Given the description of an element on the screen output the (x, y) to click on. 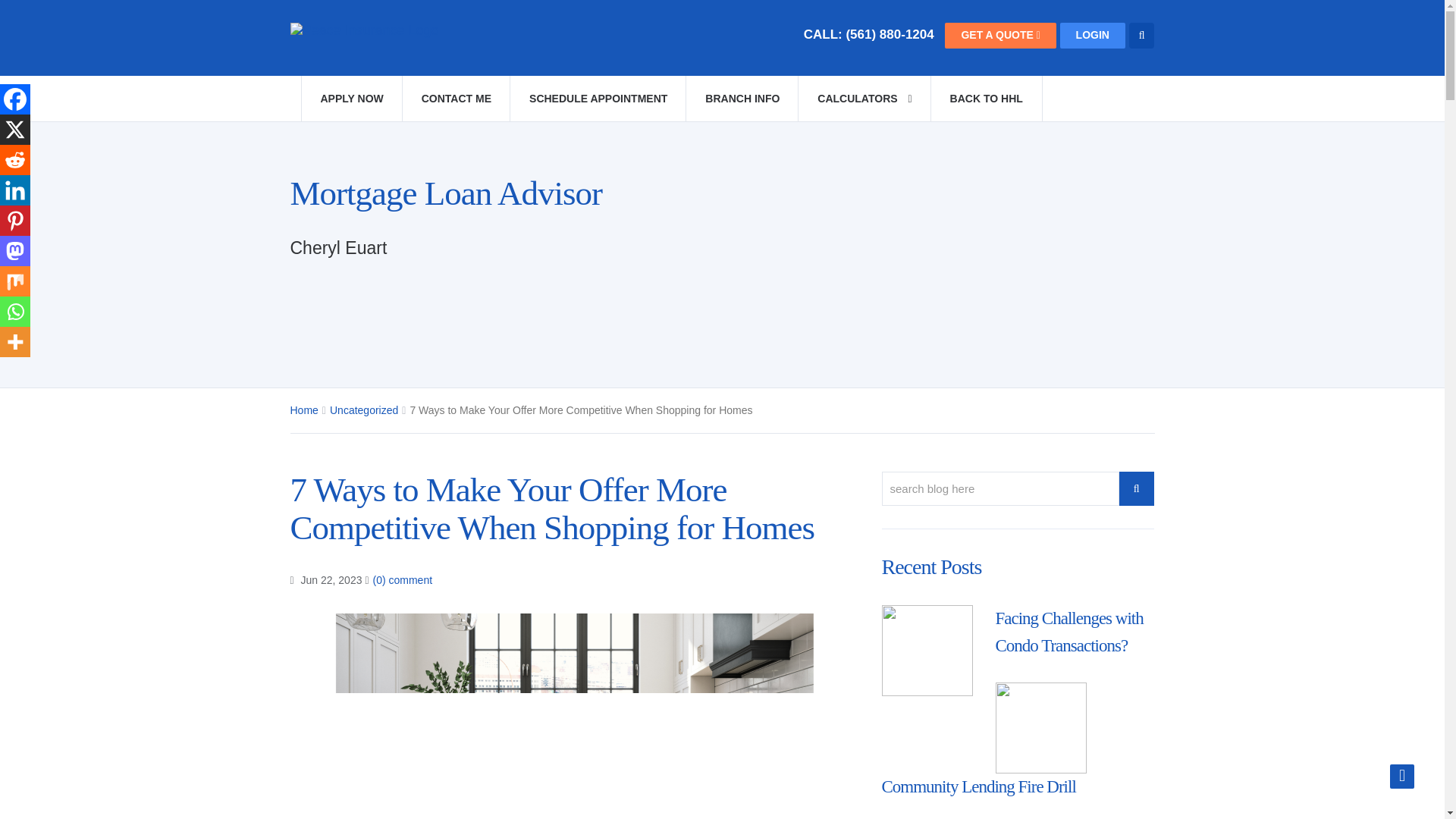
CALCULATORS (863, 98)
Get A Quote (999, 35)
Branch Info (741, 98)
LOGIN (1092, 35)
Schedule Appointment (597, 98)
CONTACT ME (456, 98)
APPLY NOW (350, 98)
Apply NOW (350, 98)
SCHEDULE APPOINTMENT (597, 98)
Back to HHL (986, 98)
